Given the description of an element on the screen output the (x, y) to click on. 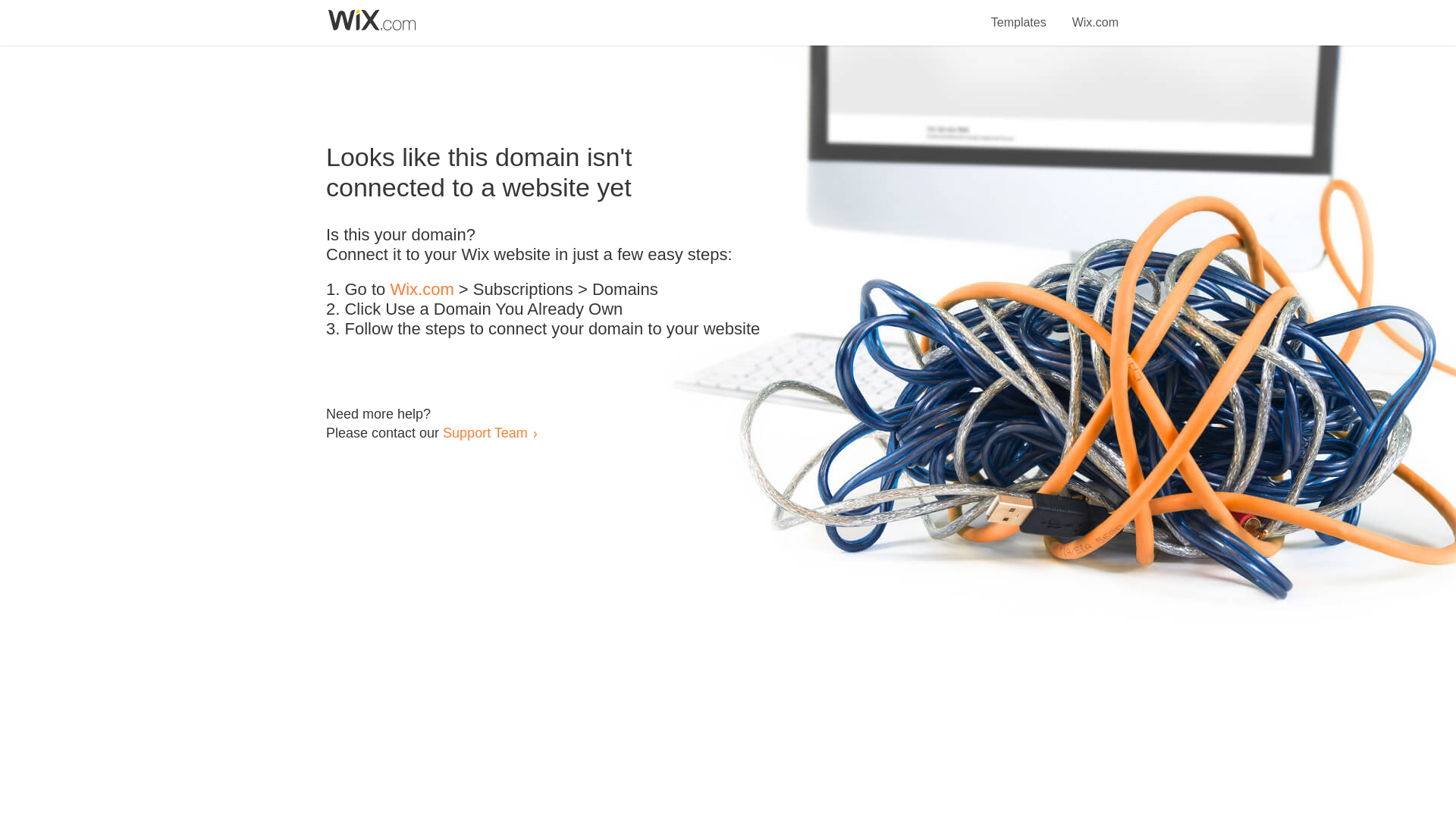
Wix.com (421, 289)
Wix.com (1095, 14)
Support Team (484, 432)
Templates (1018, 14)
